Given the description of an element on the screen output the (x, y) to click on. 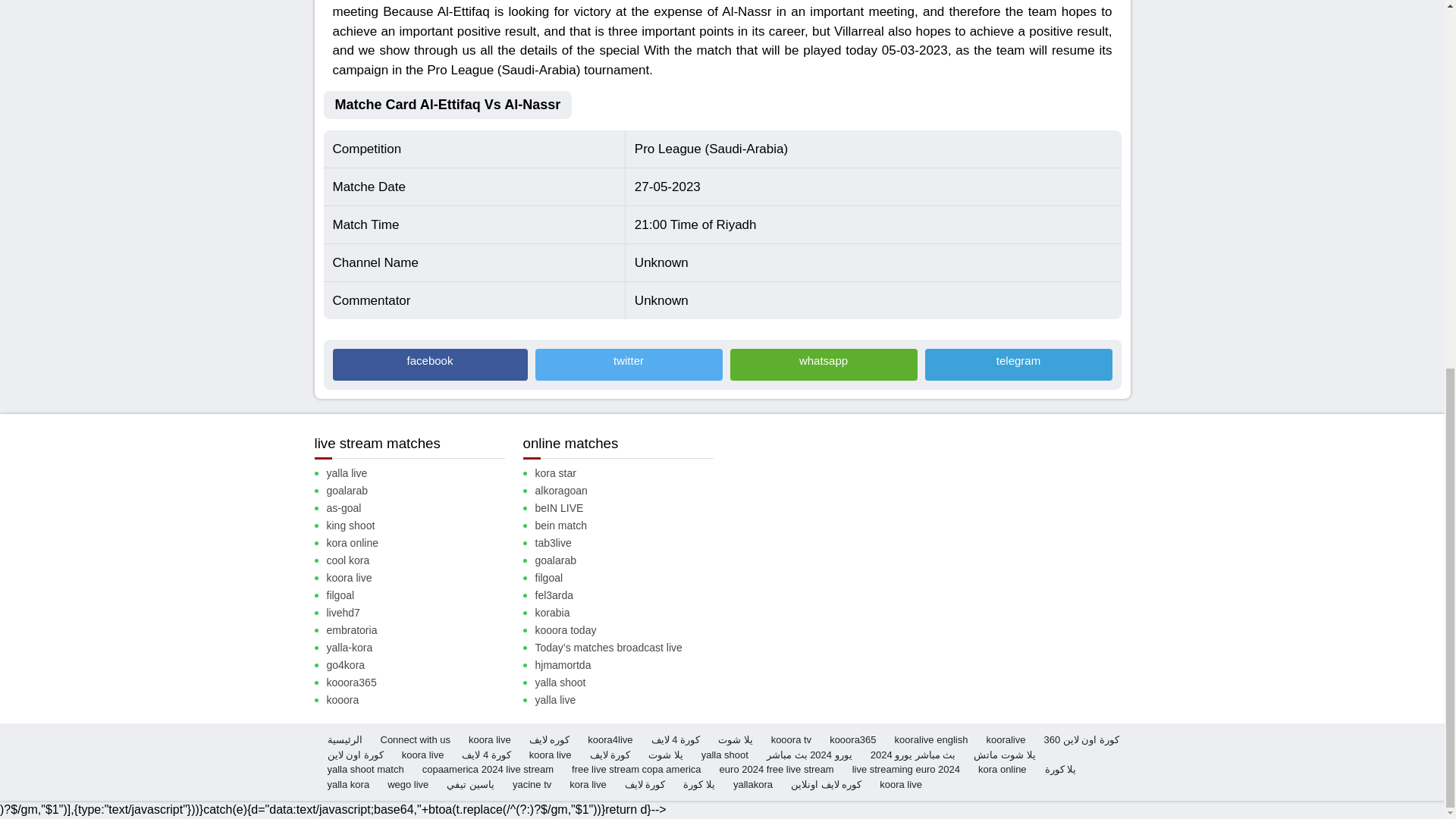
whatsapp (823, 364)
telegram (1018, 364)
Share to whatsapp (823, 364)
cool kora (421, 560)
go4kora (421, 665)
koora live (421, 578)
as-goal (421, 508)
livehd7 (421, 612)
yalla-kora (421, 647)
filgoal (421, 595)
